Given the description of an element on the screen output the (x, y) to click on. 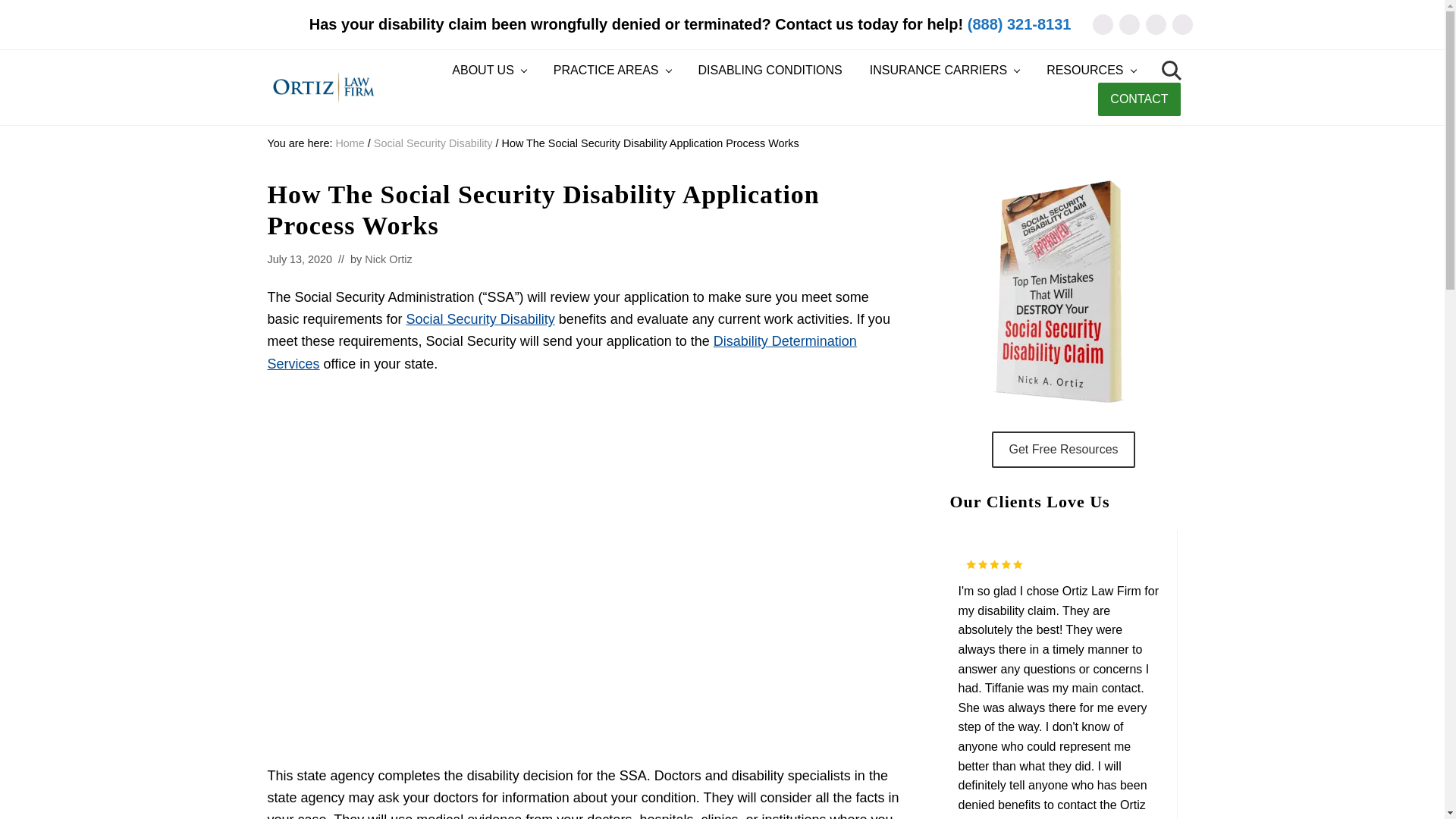
LinkedIn (1155, 24)
Email (1102, 24)
Facebook (1129, 24)
YouTube (1182, 24)
LinkedIn (1155, 24)
ABOUT US (488, 70)
Email (1102, 24)
Facebook (1129, 24)
DISABLING CONDITIONS (769, 70)
INSURANCE CARRIERS (943, 70)
Stars (994, 564)
YouTube (1182, 24)
PRACTICE AREAS (611, 70)
